Given the description of an element on the screen output the (x, y) to click on. 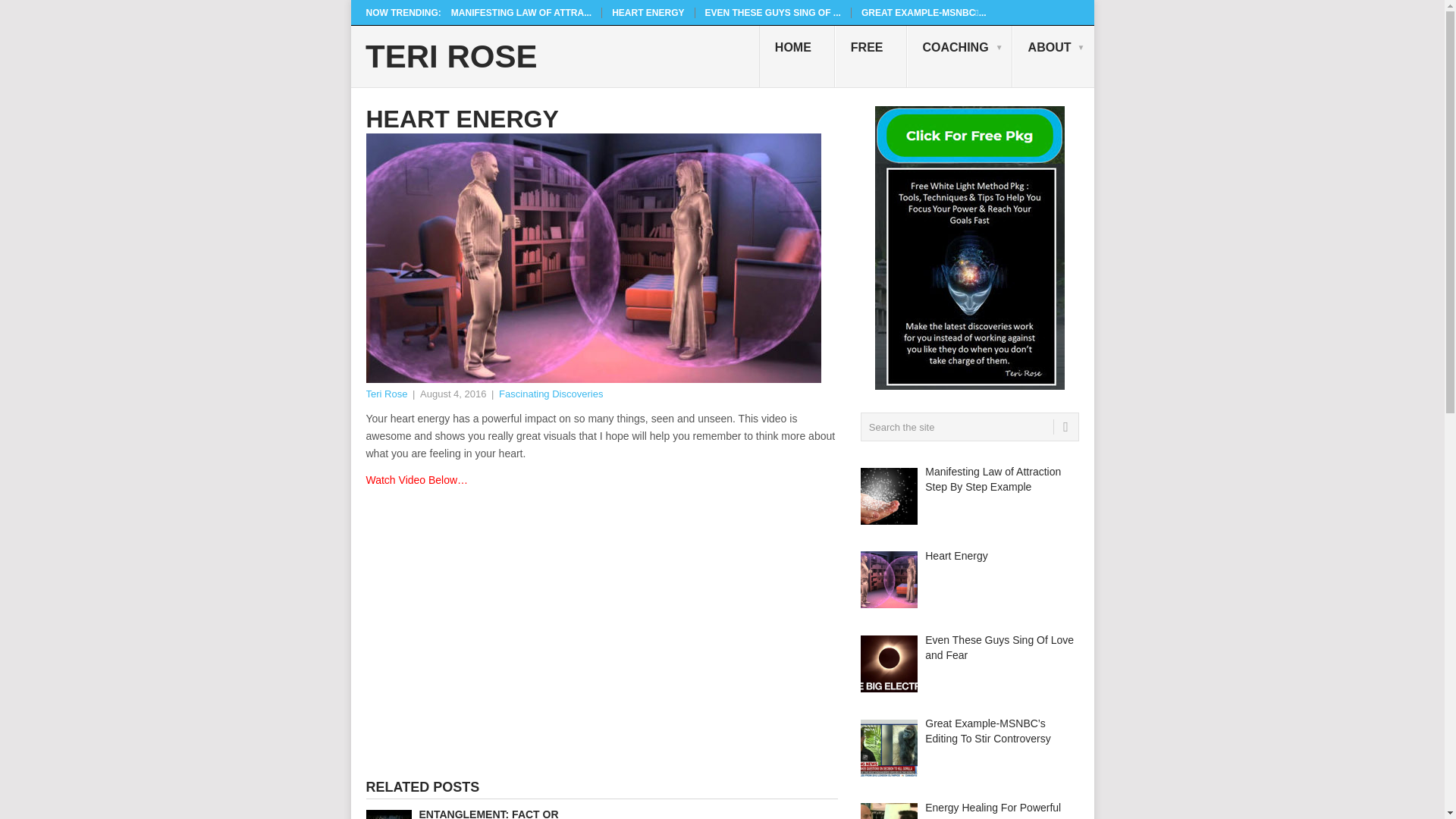
Manifesting Law of Attraction Step By Step Example (521, 12)
ENTANGLEMENT: FACT OR FICTION (479, 812)
Energy Healing For Powerful Energy (992, 810)
ABOUT (1052, 56)
Posts by Teri Rose (386, 393)
Manifesting Law of Attraction Step By Step Example (992, 479)
COACHING (959, 56)
Search the site (969, 426)
Teri Rose (386, 393)
Heart Energy (955, 555)
